Given the description of an element on the screen output the (x, y) to click on. 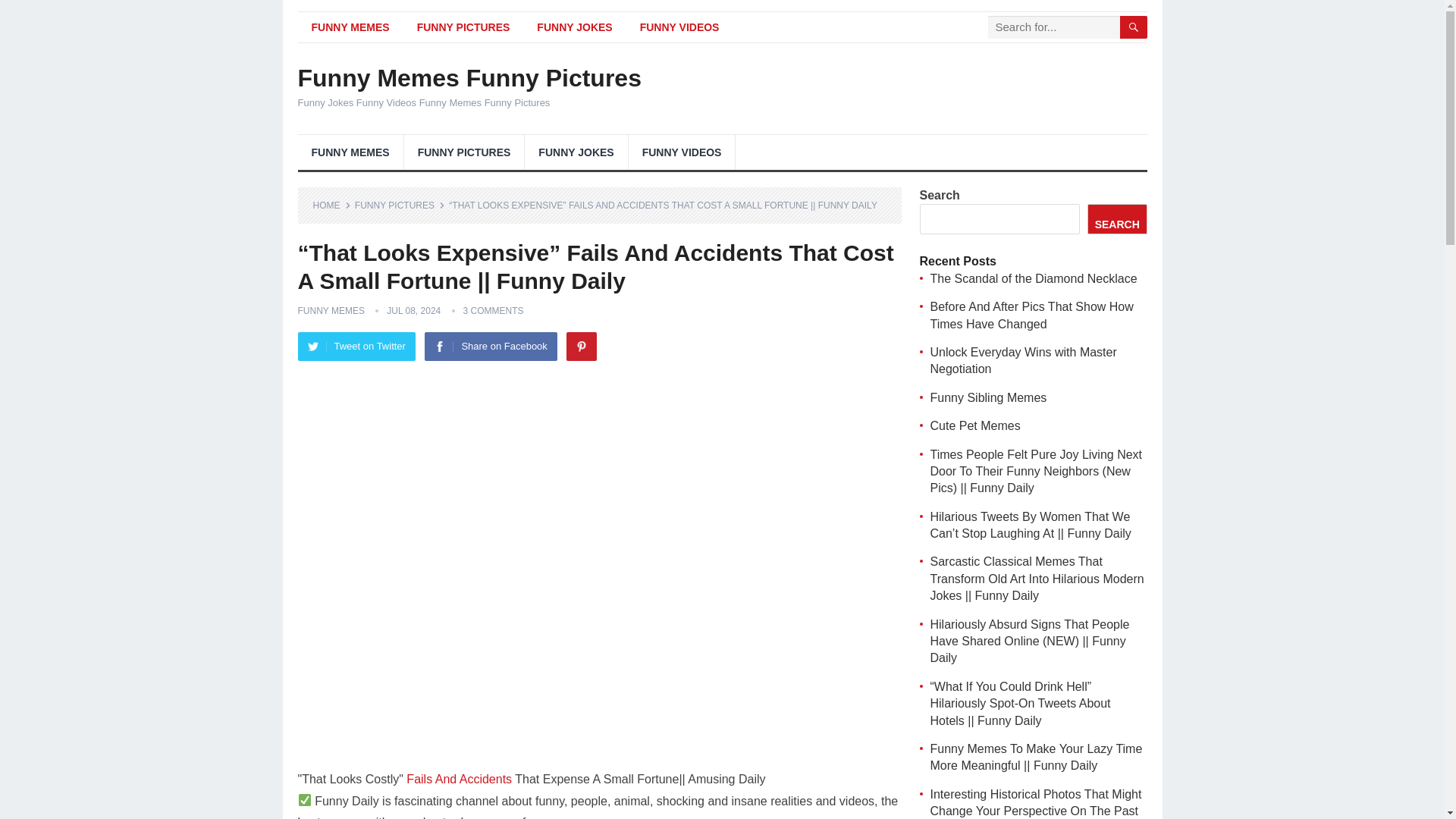
FUNNY JOKES (574, 27)
memes (342, 817)
FUNNY MEMES (350, 152)
Posts tagged with Fails And Accidents (459, 779)
FUNNY PICTURES (464, 152)
FUNNY VIDEOS (679, 27)
Posts tagged with memes (342, 817)
Posts tagged with memes (549, 817)
FUNNY MEMES (350, 27)
FUNNY MEMES (330, 310)
memes (549, 817)
Fails And Accidents (459, 779)
View all posts in Funny Pictures (400, 204)
Share on Facebook (490, 346)
Funny Memes Funny Pictures (468, 78)
